Given the description of an element on the screen output the (x, y) to click on. 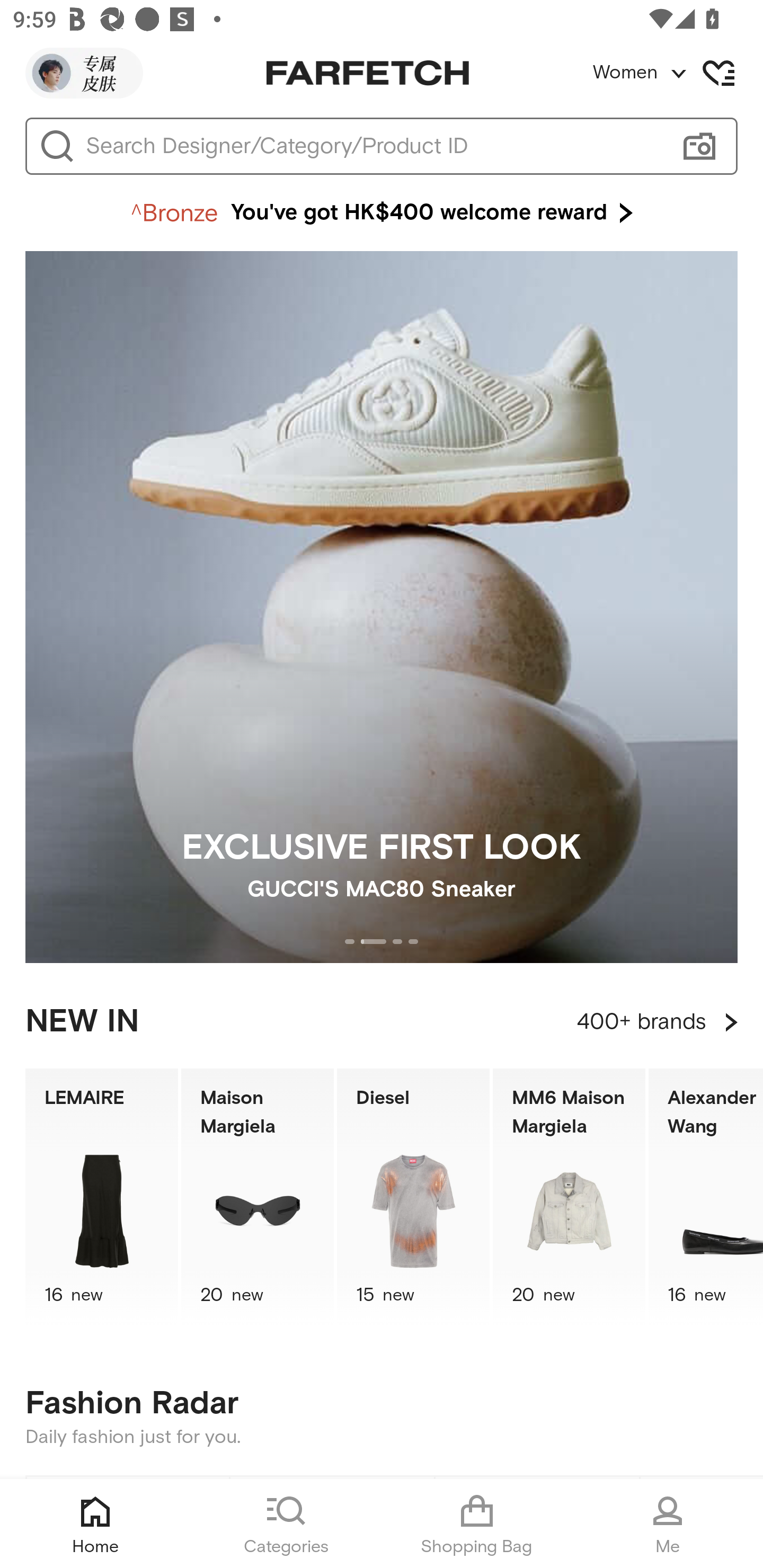
Women (677, 72)
Search Designer/Category/Product ID (373, 146)
You've got HK$400 welcome reward (381, 213)
NEW IN 400+ brands (381, 1021)
LEMAIRE 16  new (101, 1196)
Maison Margiela 20  new (257, 1196)
Diesel 15  new (413, 1196)
MM6 Maison Margiela 20  new (568, 1196)
Alexander Wang 16  new (705, 1196)
Categories (285, 1523)
Shopping Bag (476, 1523)
Me (667, 1523)
